Given the description of an element on the screen output the (x, y) to click on. 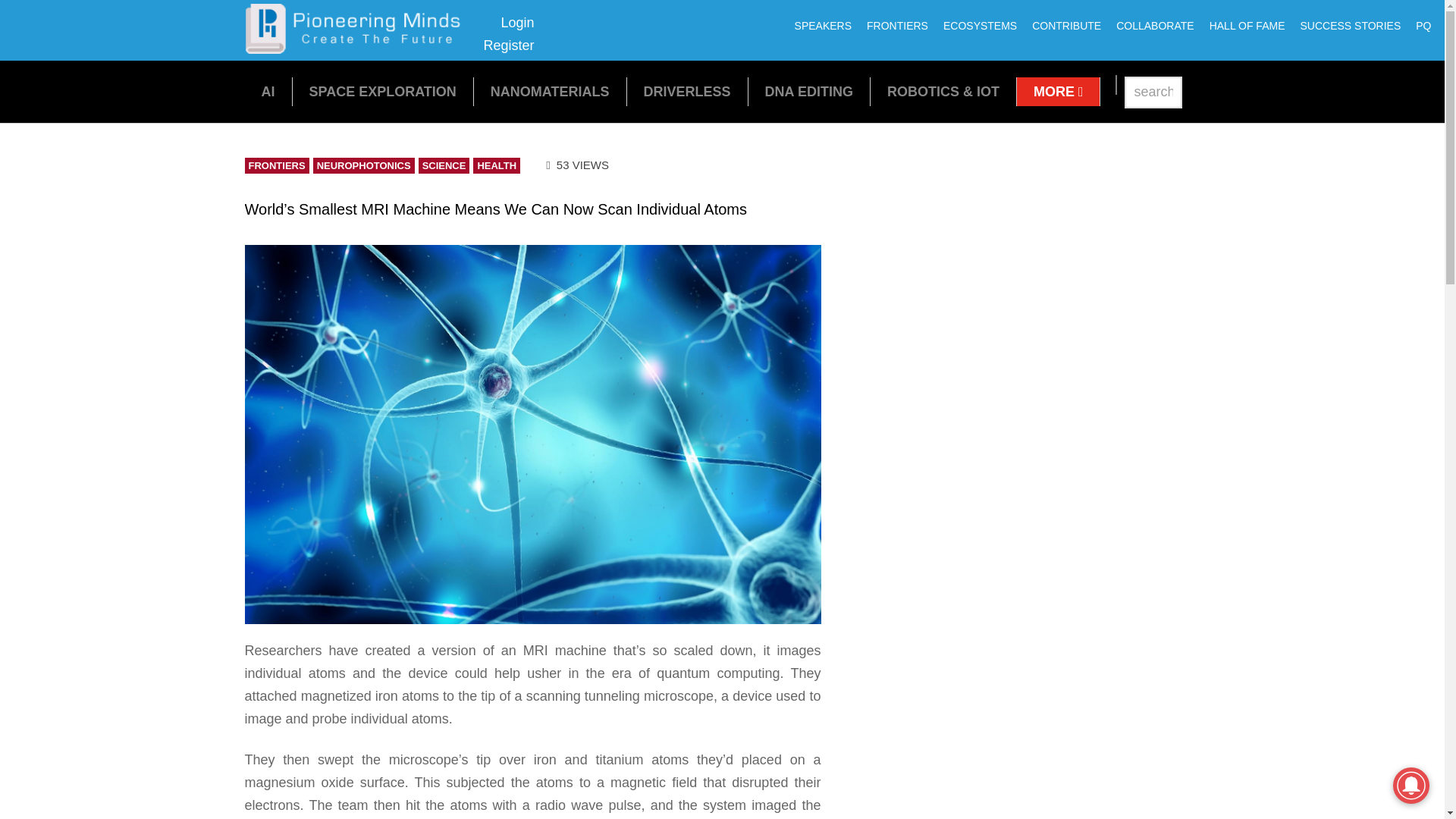
SPEAKERS (823, 26)
MORE (1058, 91)
PQ (1422, 26)
NANOMATERIALS (550, 91)
SUCCESS STORIES (1349, 26)
COLLABORATE (1154, 26)
FRONTIERS (897, 26)
CONTRIBUTE (1066, 26)
HALL OF FAME (1247, 26)
DNA EDITING (809, 91)
AI (267, 91)
Pioneering Minds (508, 34)
SPACE EXPLORATION (357, 48)
ECOSYSTEMS (382, 91)
